Given the description of an element on the screen output the (x, y) to click on. 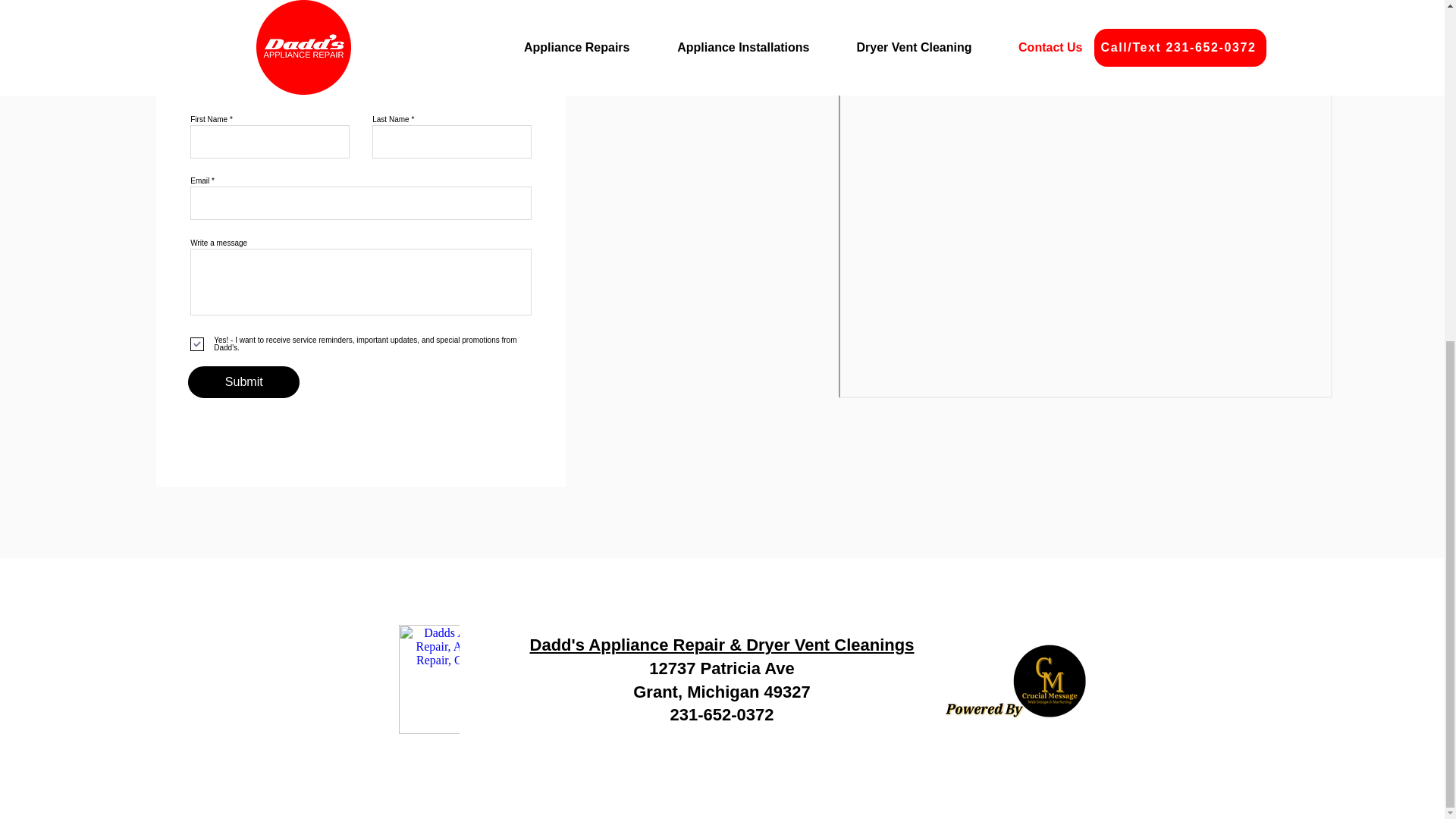
Submit (243, 382)
Powered By Crucial Messag (1014, 680)
Embedded Content (429, 680)
